Given the description of an element on the screen output the (x, y) to click on. 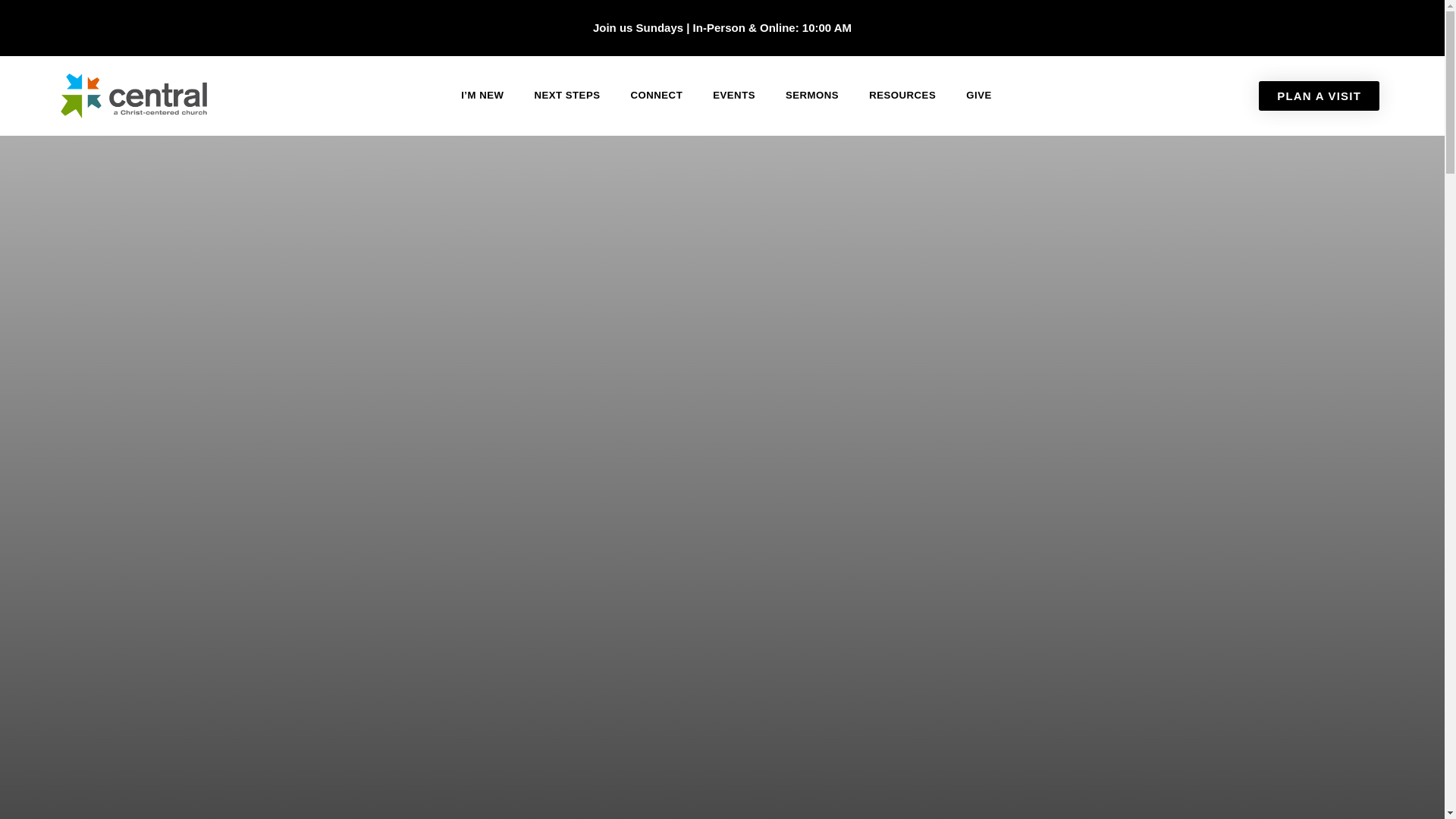
GIVE (978, 95)
EVENTS (733, 95)
RESOURCES (901, 95)
SERMONS (811, 95)
NEXT STEPS (566, 95)
CONNECT (656, 95)
